Given the description of an element on the screen output the (x, y) to click on. 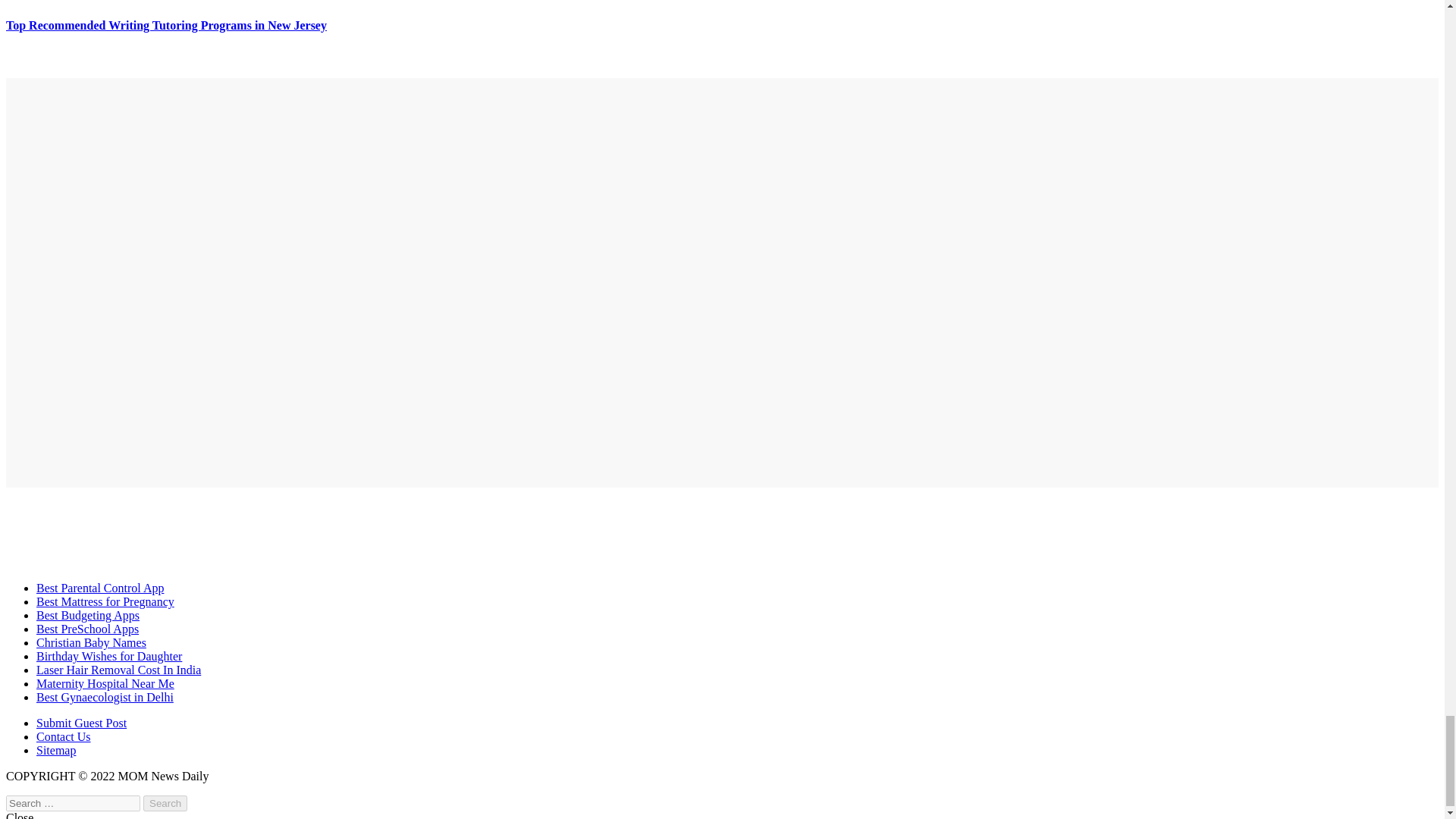
pinterest (465, 280)
